Given the description of an element on the screen output the (x, y) to click on. 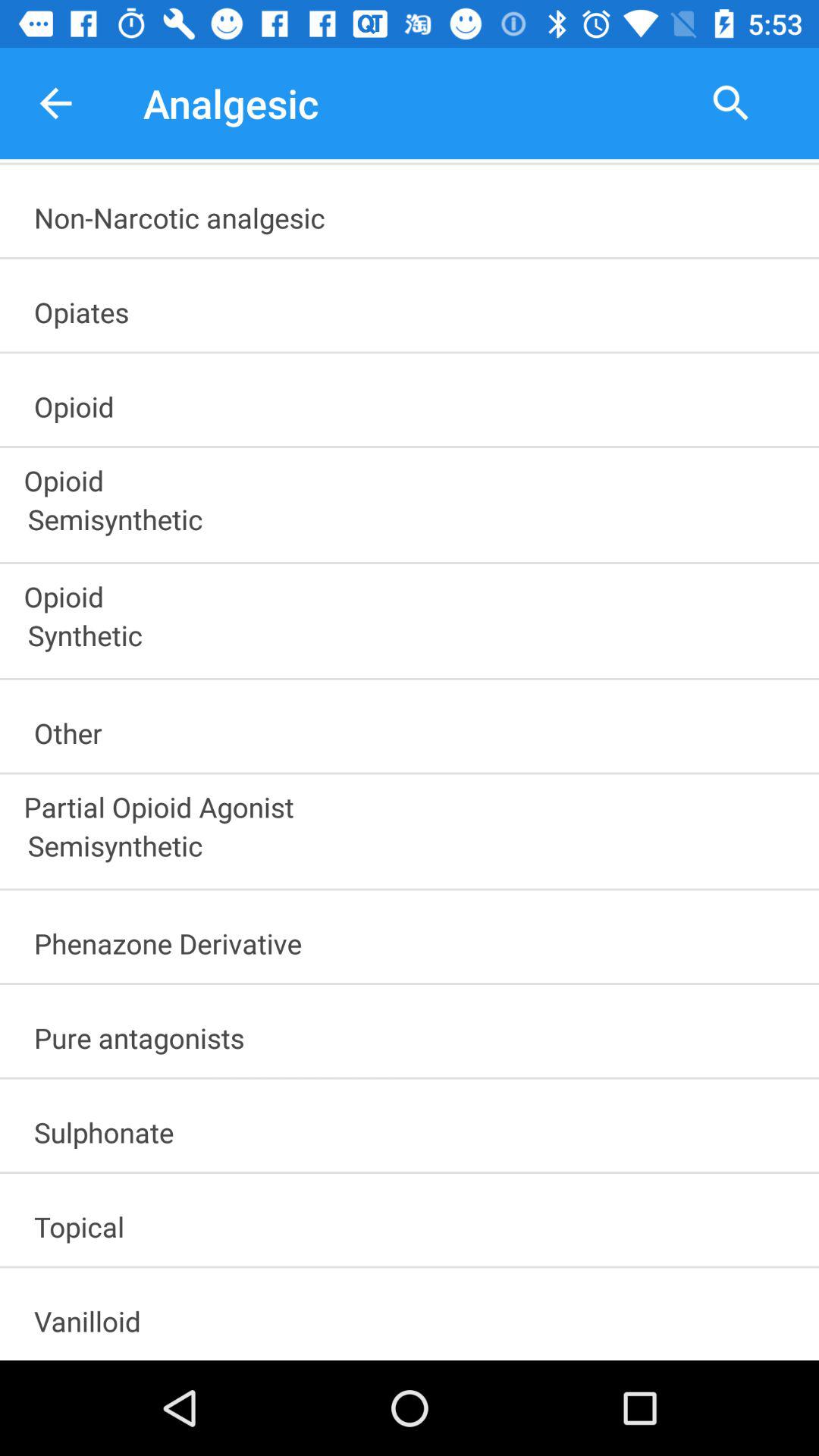
jump to the synthetic (416, 639)
